Given the description of an element on the screen output the (x, y) to click on. 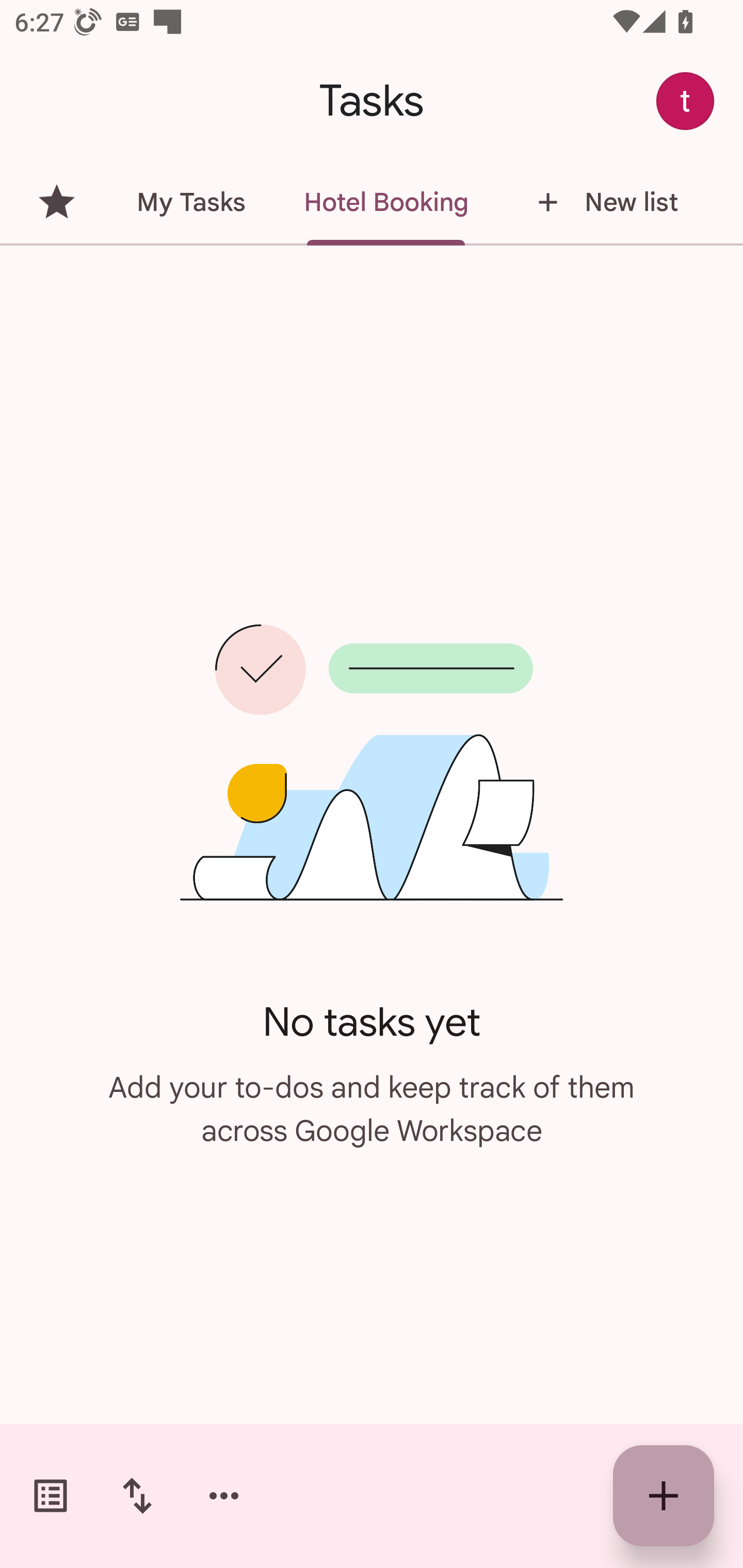
Starred (55, 202)
My Tasks (190, 202)
New list (601, 202)
Switch task lists (50, 1495)
Create new task (663, 1495)
Change sort order (136, 1495)
More options (223, 1495)
